Given the description of an element on the screen output the (x, y) to click on. 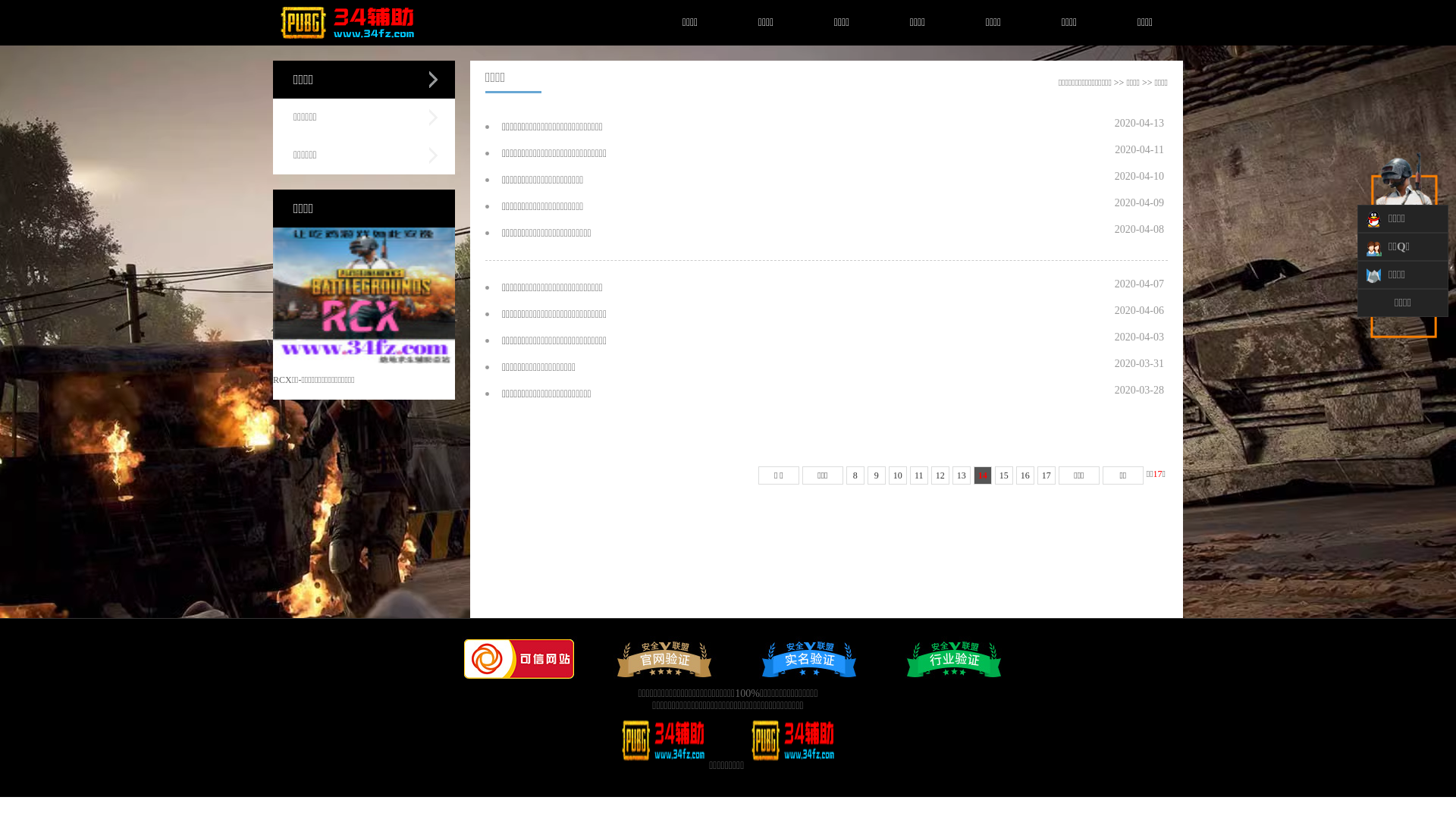
8 Element type: text (855, 475)
14 Element type: text (982, 475)
15 Element type: text (1003, 475)
10 Element type: text (897, 475)
9 Element type: text (876, 475)
13 Element type: text (961, 475)
12 Element type: text (940, 475)
16 Element type: text (1025, 475)
11 Element type: text (919, 475)
17 Element type: text (1046, 475)
